Given the description of an element on the screen output the (x, y) to click on. 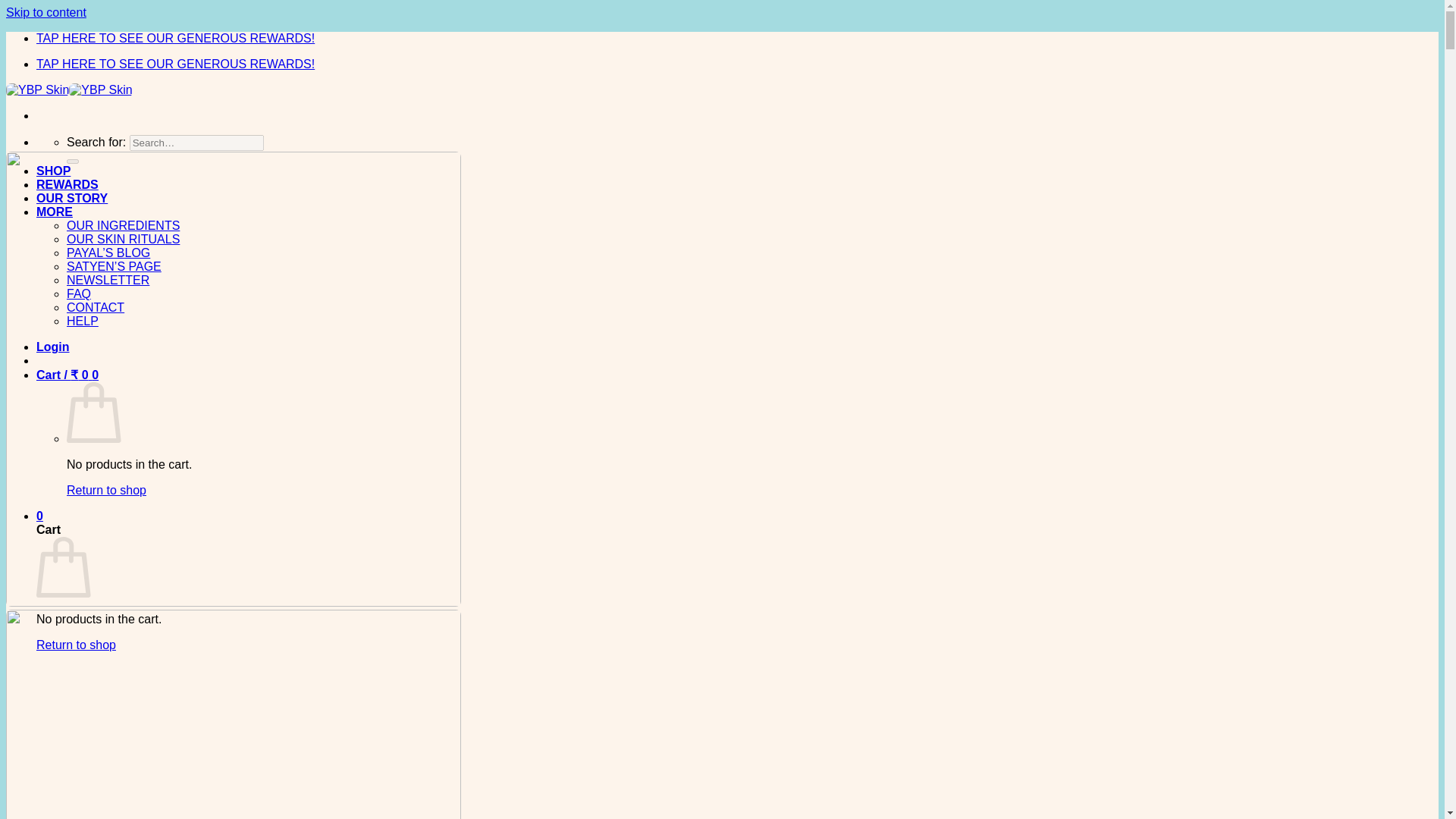
Return to shop (76, 644)
SHOP (52, 170)
HELP (82, 320)
Skip to content (45, 11)
NEWSLETTER (107, 279)
REWARDS (67, 184)
OUR INGREDIENTS (122, 225)
TAP HERE TO SEE OUR GENEROUS REWARDS! (175, 63)
CONTACT (94, 307)
Return to shop (106, 490)
